Given the description of an element on the screen output the (x, y) to click on. 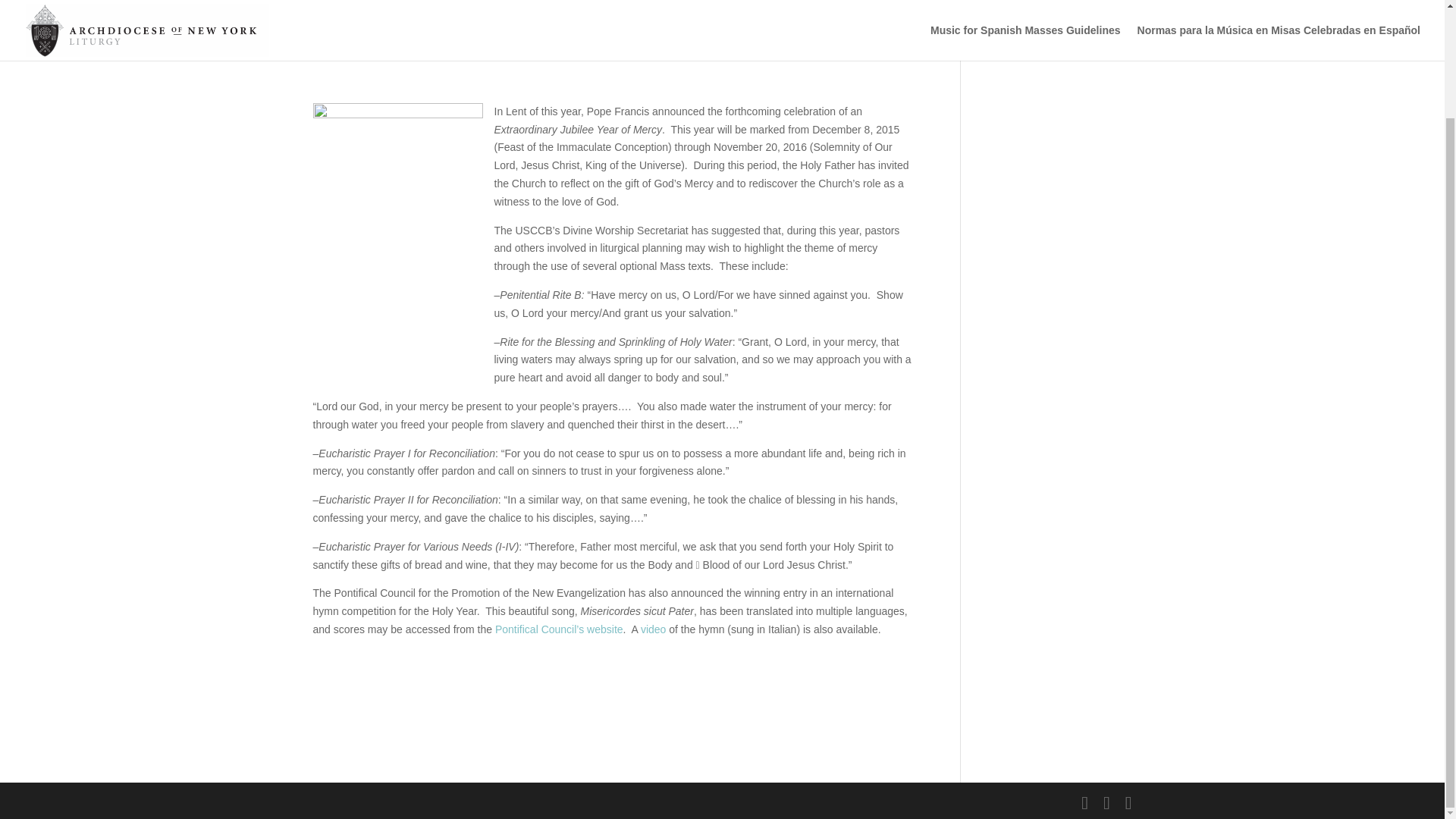
Fr. Matthew Ernest (370, 15)
Posts by Fr. Matthew Ernest (370, 15)
video (652, 629)
